Given the description of an element on the screen output the (x, y) to click on. 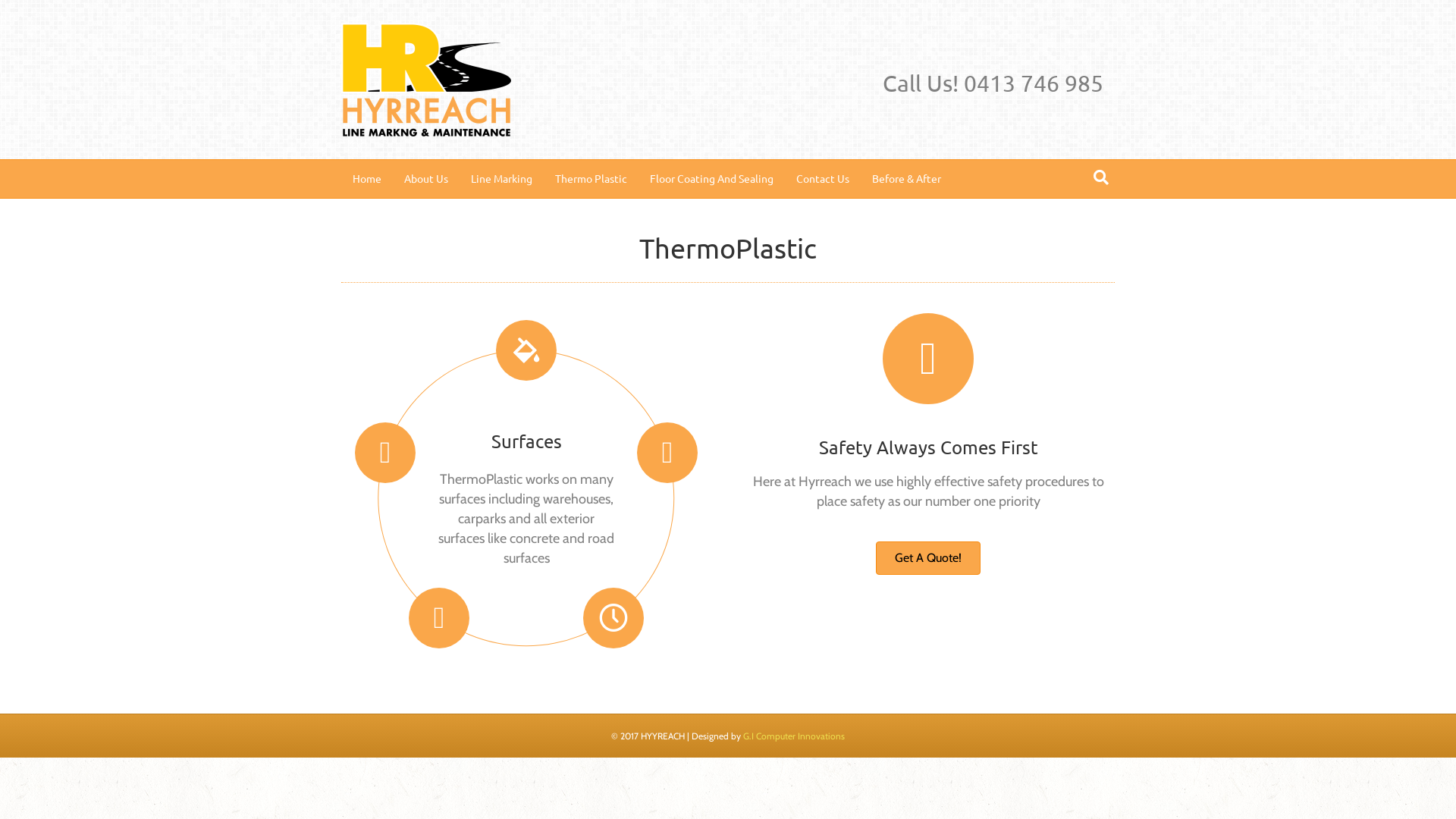
Get A Quote! Element type: text (927, 557)
Contact Us Element type: text (822, 178)
Line Marking Element type: text (501, 178)
Floor Coating And Sealing Element type: text (711, 178)
Before & After Element type: text (906, 178)
G.I Computer Innovations Element type: text (793, 735)
Home Element type: text (366, 178)
Thermo Plastic Element type: text (590, 178)
About Us Element type: text (425, 178)
